Given the description of an element on the screen output the (x, y) to click on. 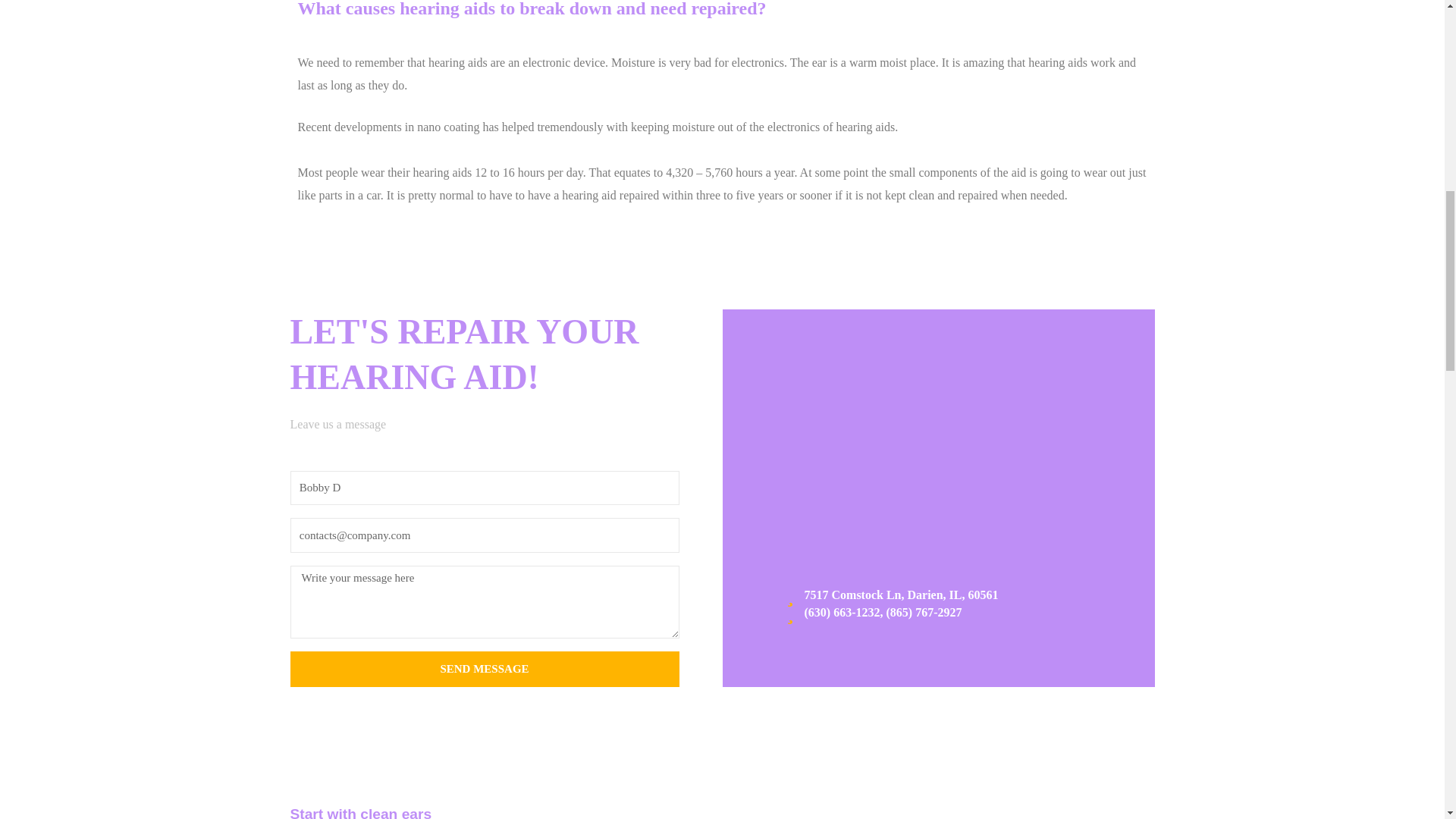
London Eye, London, United Kingdom (937, 469)
